Given the description of an element on the screen output the (x, y) to click on. 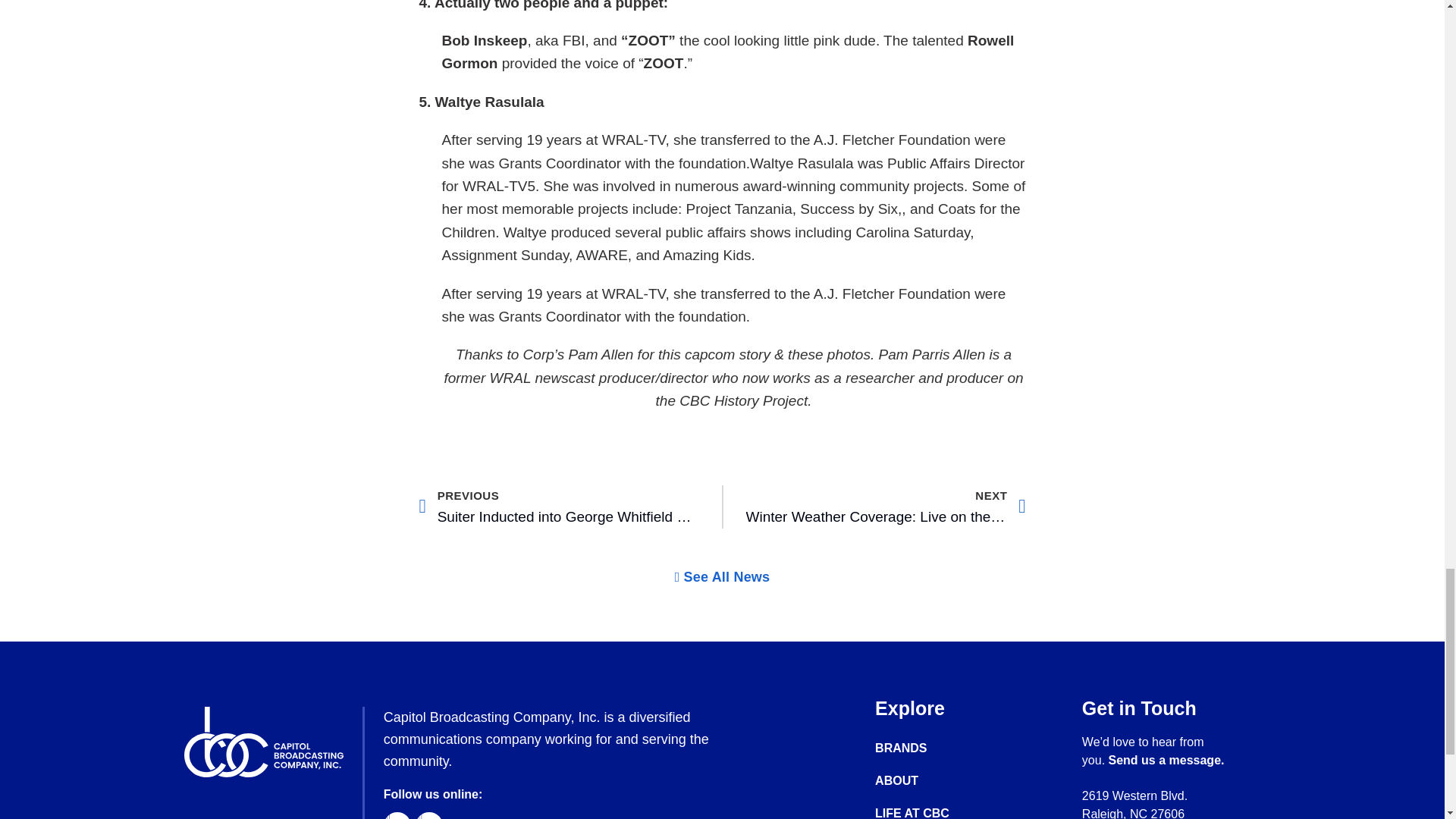
LIFE AT CBC (926, 812)
BRANDS (558, 507)
See All News (926, 748)
ABOUT (722, 576)
